Given the description of an element on the screen output the (x, y) to click on. 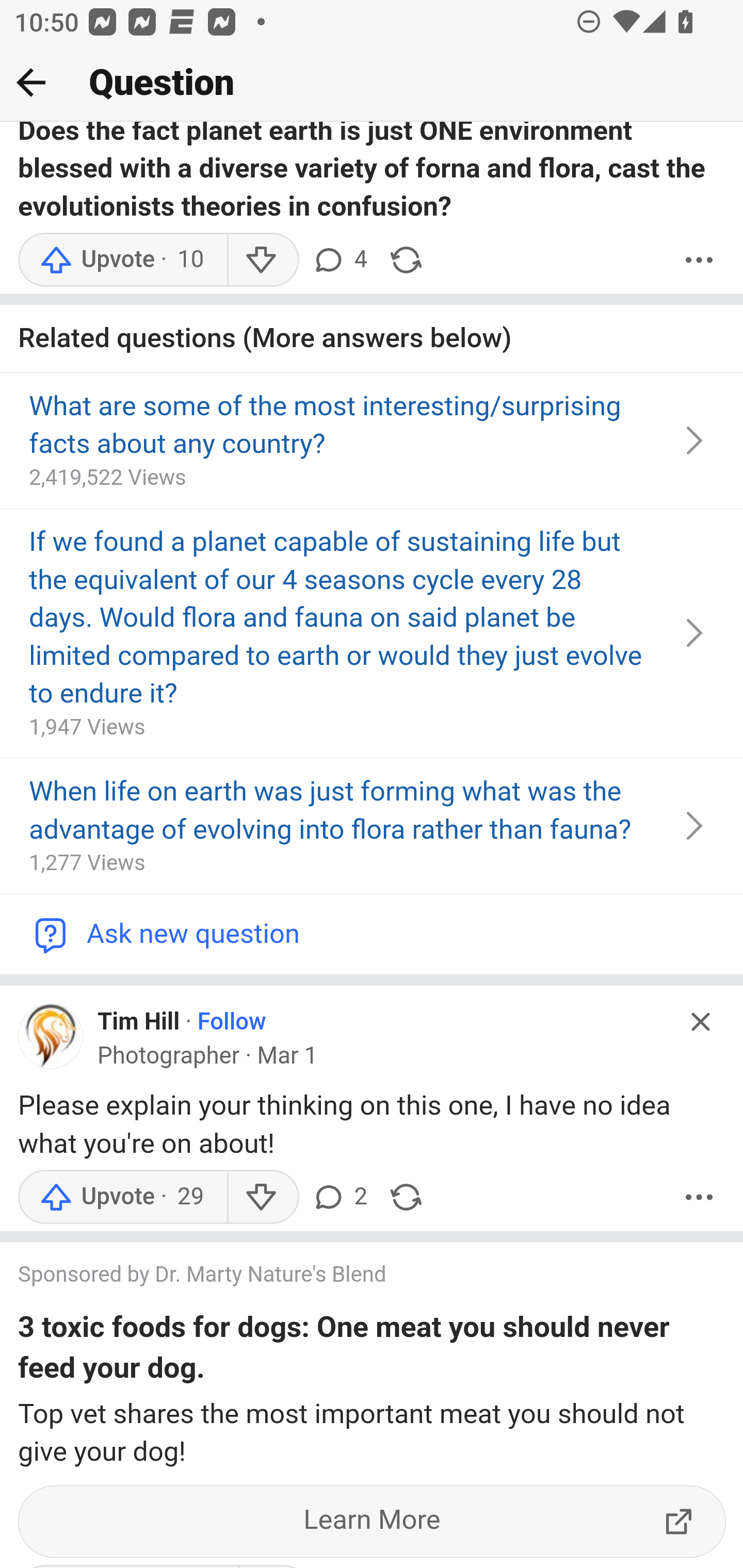
Back (30, 82)
Ask new question (371, 933)
Hide (700, 1021)
Profile photo for Tim Hill (50, 1035)
Tim Hill (138, 1021)
Follow (231, 1021)
Sponsored by Dr. Marty Nature's Blend (352, 1277)
Learn More ExternalLink (372, 1521)
